Given the description of an element on the screen output the (x, y) to click on. 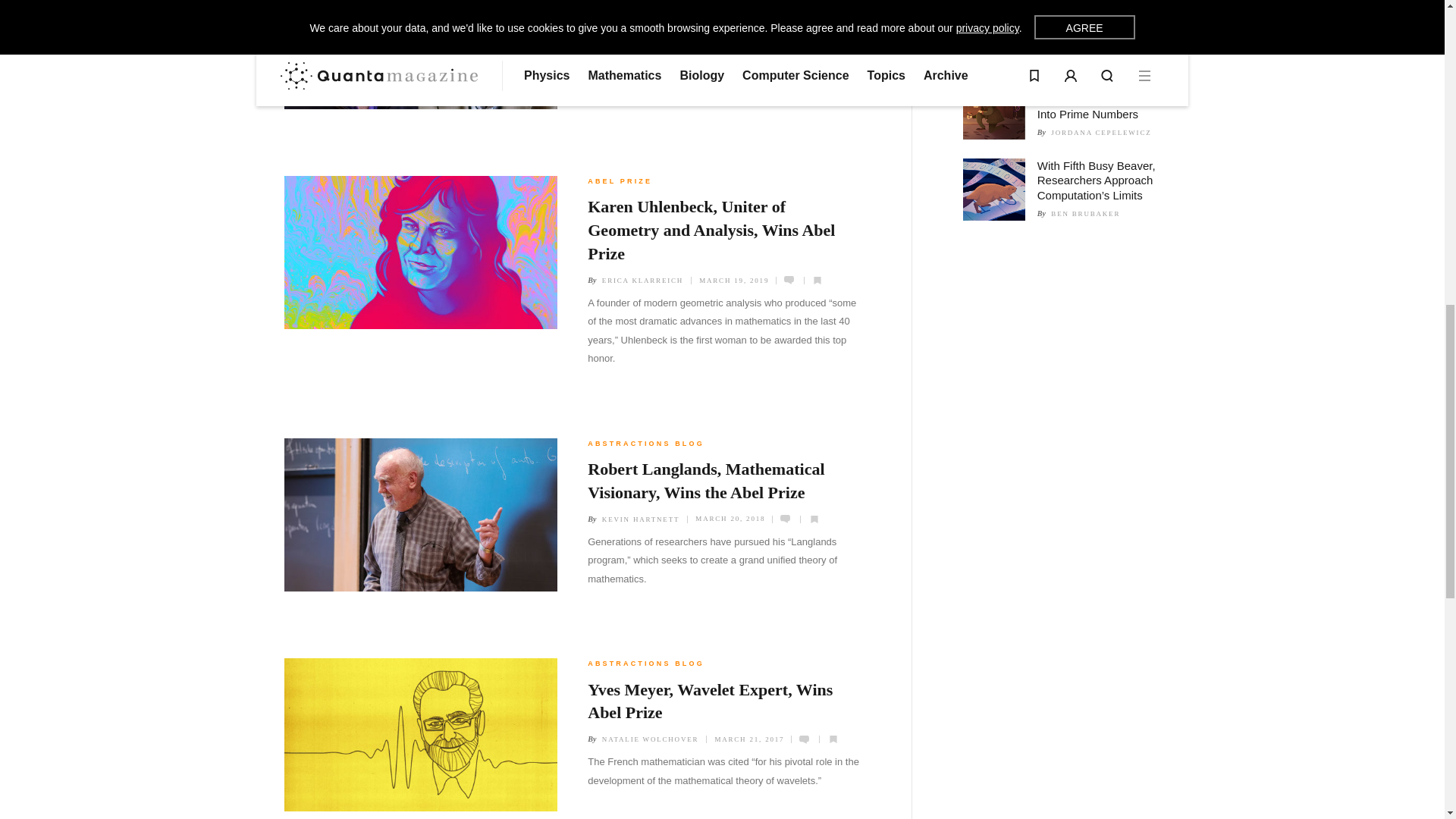
ERICA KLARREICH (642, 280)
ABSTRACTIONS BLOG (646, 443)
KEVIN HARTNETT (640, 36)
ABEL PRIZE (620, 181)
